Given the description of an element on the screen output the (x, y) to click on. 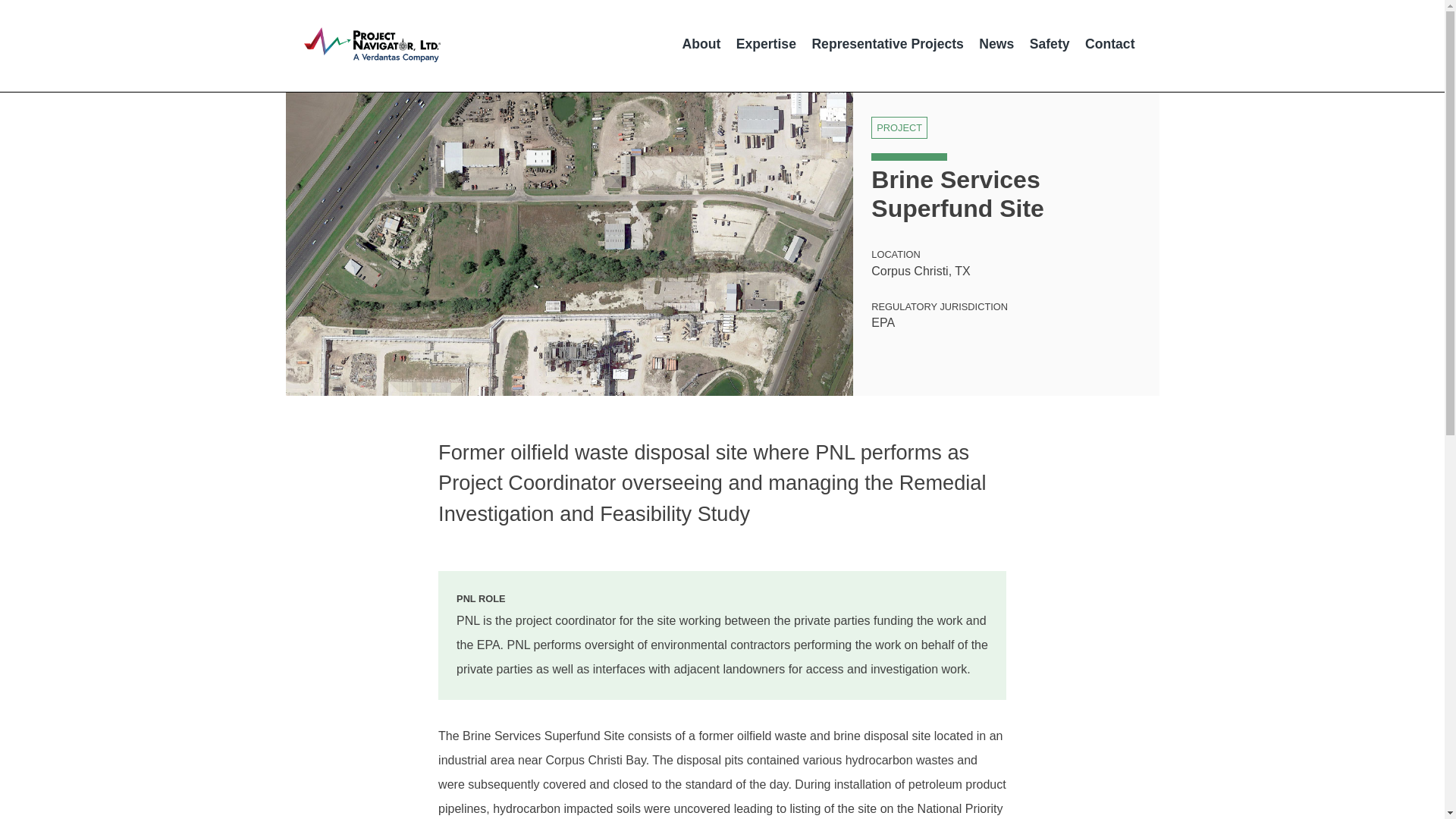
Expertise (766, 43)
Representative Projects (887, 43)
About (700, 43)
